Given the description of an element on the screen output the (x, y) to click on. 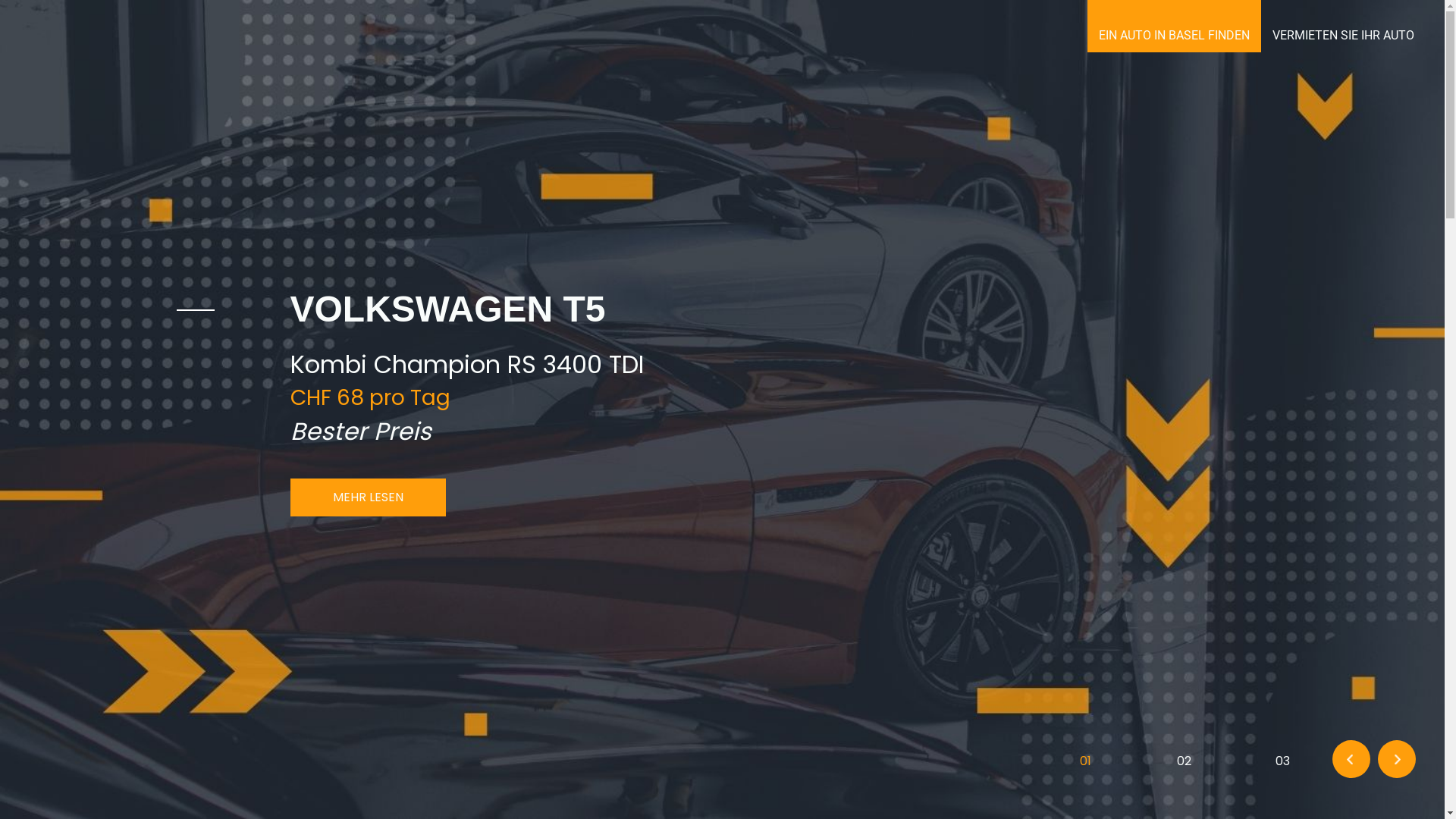
MEHR LESEN Element type: text (367, 497)
Vorherige Element type: text (1351, 759)
VERMIETEN SIE IHR AUTO Element type: text (1343, 26)
EIN AUTO IN BASEL FINDEN Element type: text (1174, 26)
